Given the description of an element on the screen output the (x, y) to click on. 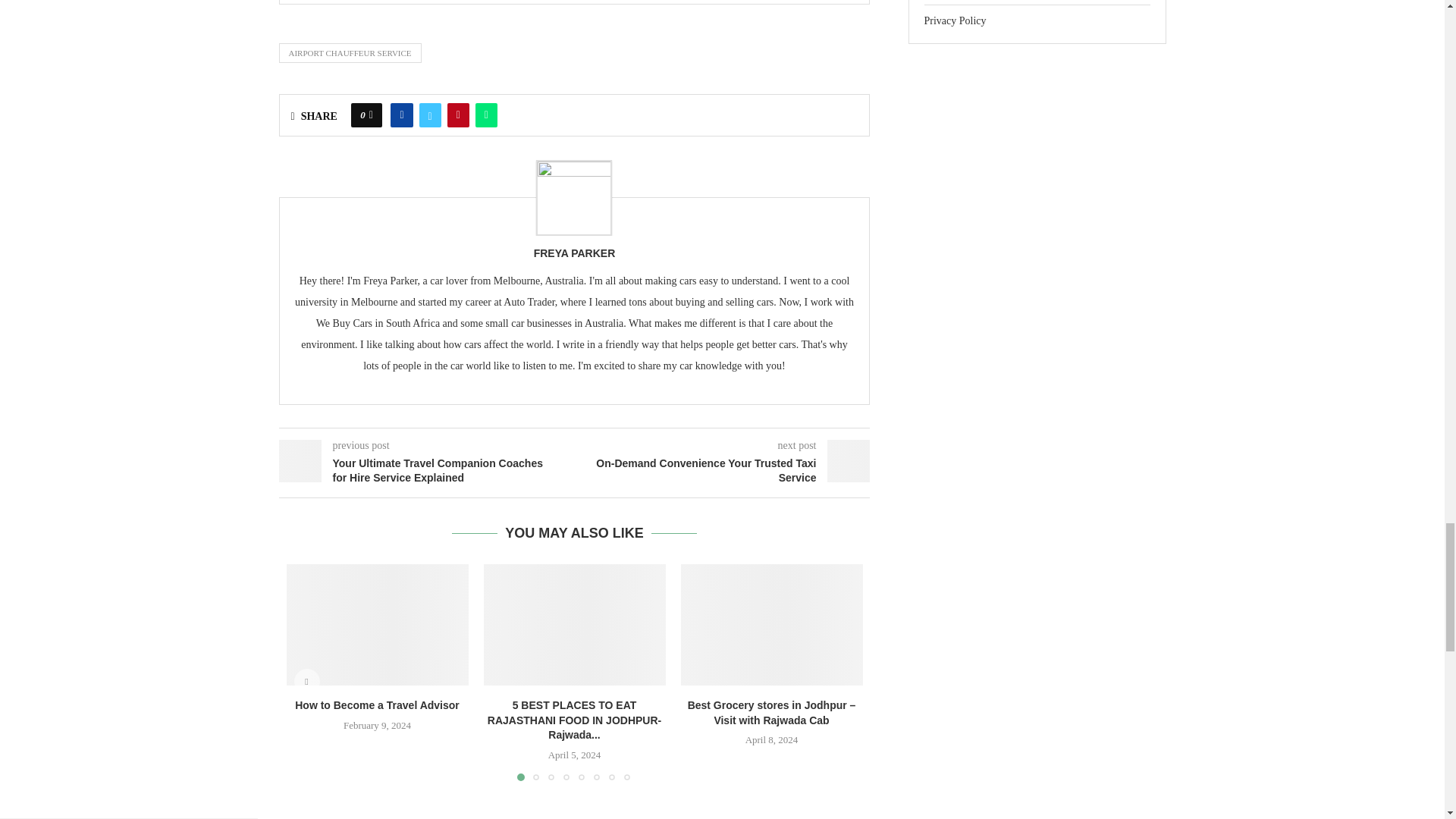
Author Freya Parker (574, 253)
How to Become a Travel Advisor (377, 624)
5 BEST PLACES TO EAT RAJASTHANI FOOD IN JODHPUR- Rajwada Cab (574, 624)
